Given the description of an element on the screen output the (x, y) to click on. 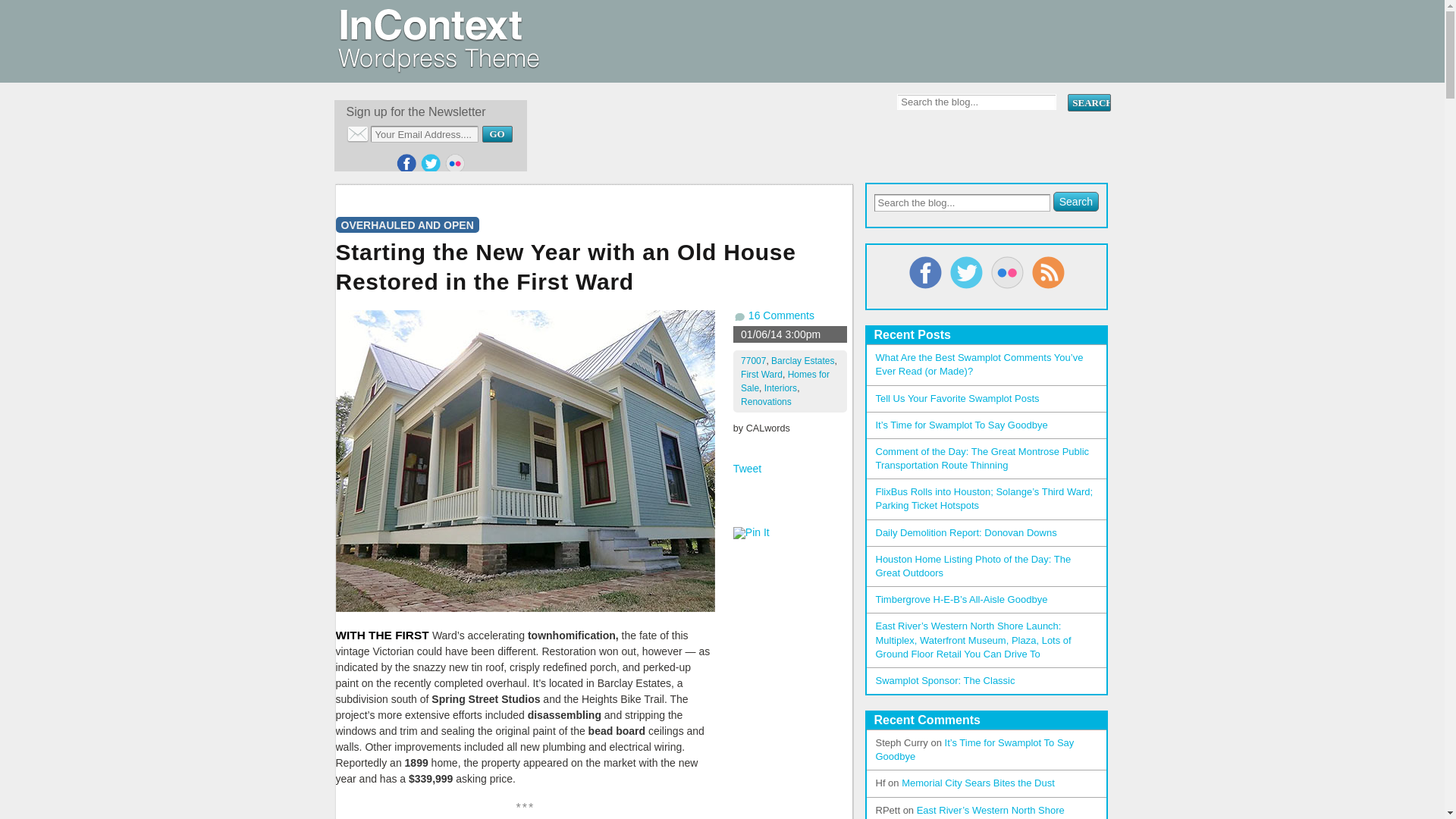
First Ward (762, 374)
Search (1074, 201)
Pin It (751, 532)
See us on Flickr (454, 163)
Share on Tumblr (763, 513)
Barclay Estates (802, 360)
GO (496, 134)
Search (1088, 102)
77007 (753, 360)
